Given the description of an element on the screen output the (x, y) to click on. 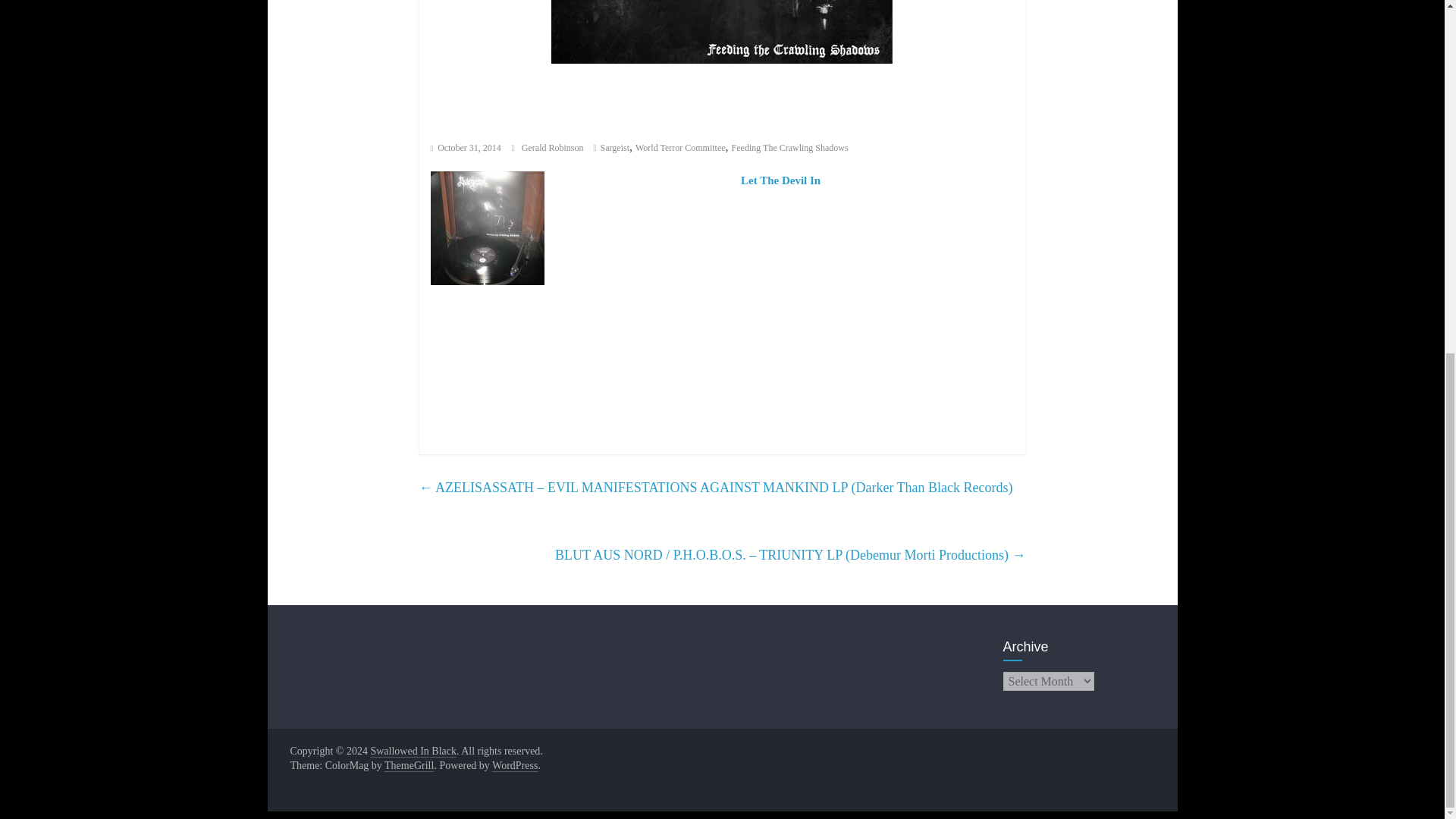
Gerald Robinson (553, 147)
22:21 (465, 147)
October 31, 2014 (465, 147)
Feeding The Crawling Shadows (790, 147)
WordPress (514, 766)
Swallowed In Black (413, 751)
WordPress (514, 766)
ThemeGrill (408, 766)
World Terror Committee (679, 147)
ThemeGrill (408, 766)
Let The Devil In (781, 180)
Gerald Robinson (553, 147)
Sargeist (613, 147)
Swallowed In Black (413, 751)
